Given the description of an element on the screen output the (x, y) to click on. 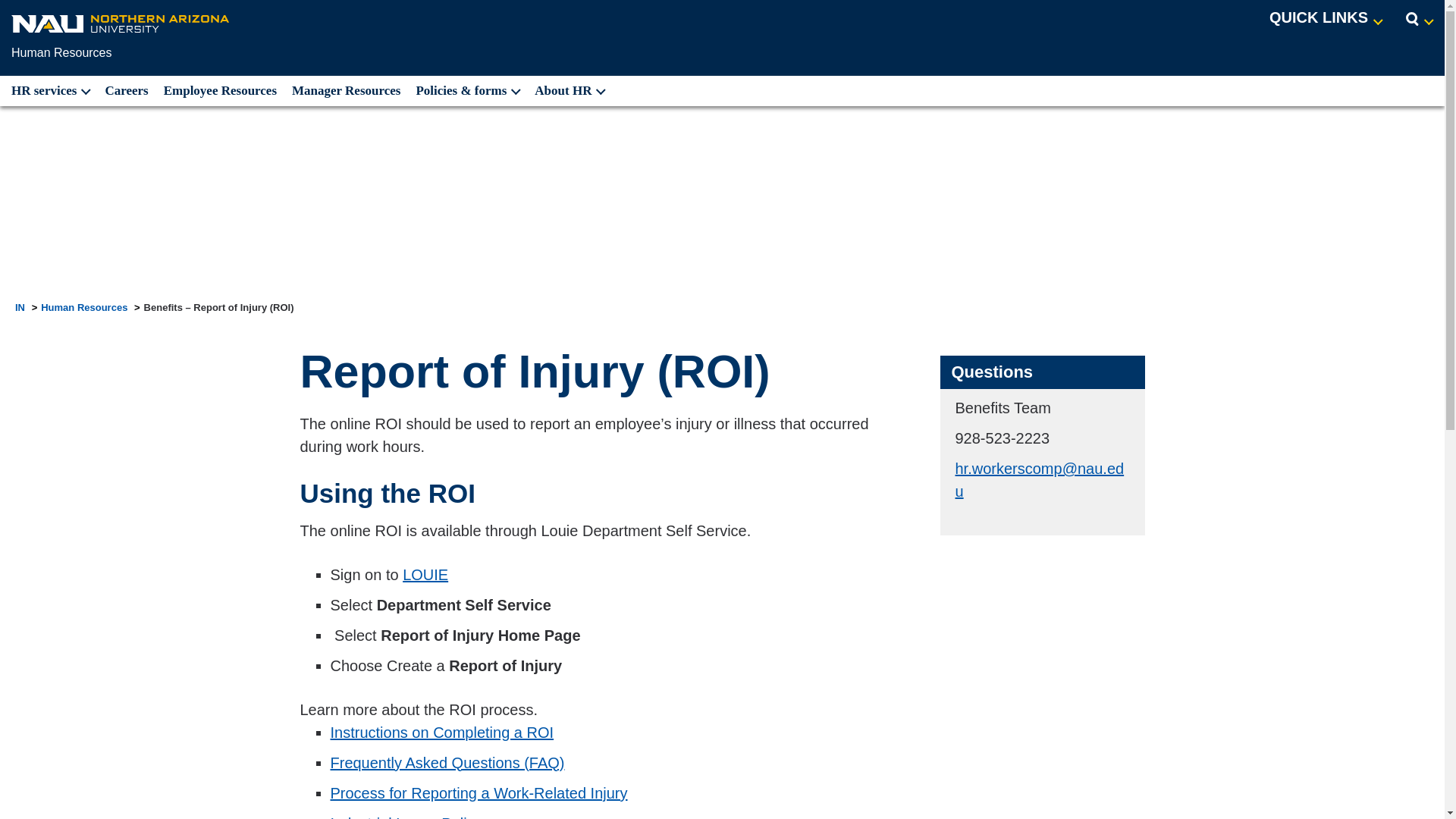
HR services (48, 91)
NAU Home (121, 22)
Louie (425, 574)
Industrial Leave Policy (405, 816)
QUICK LINKS (1325, 18)
Careers (126, 91)
Process for Reporting a Work Related Injury (478, 792)
Manager Resources (345, 91)
Human Resources (61, 52)
Employee Resources (219, 91)
